Given the description of an element on the screen output the (x, y) to click on. 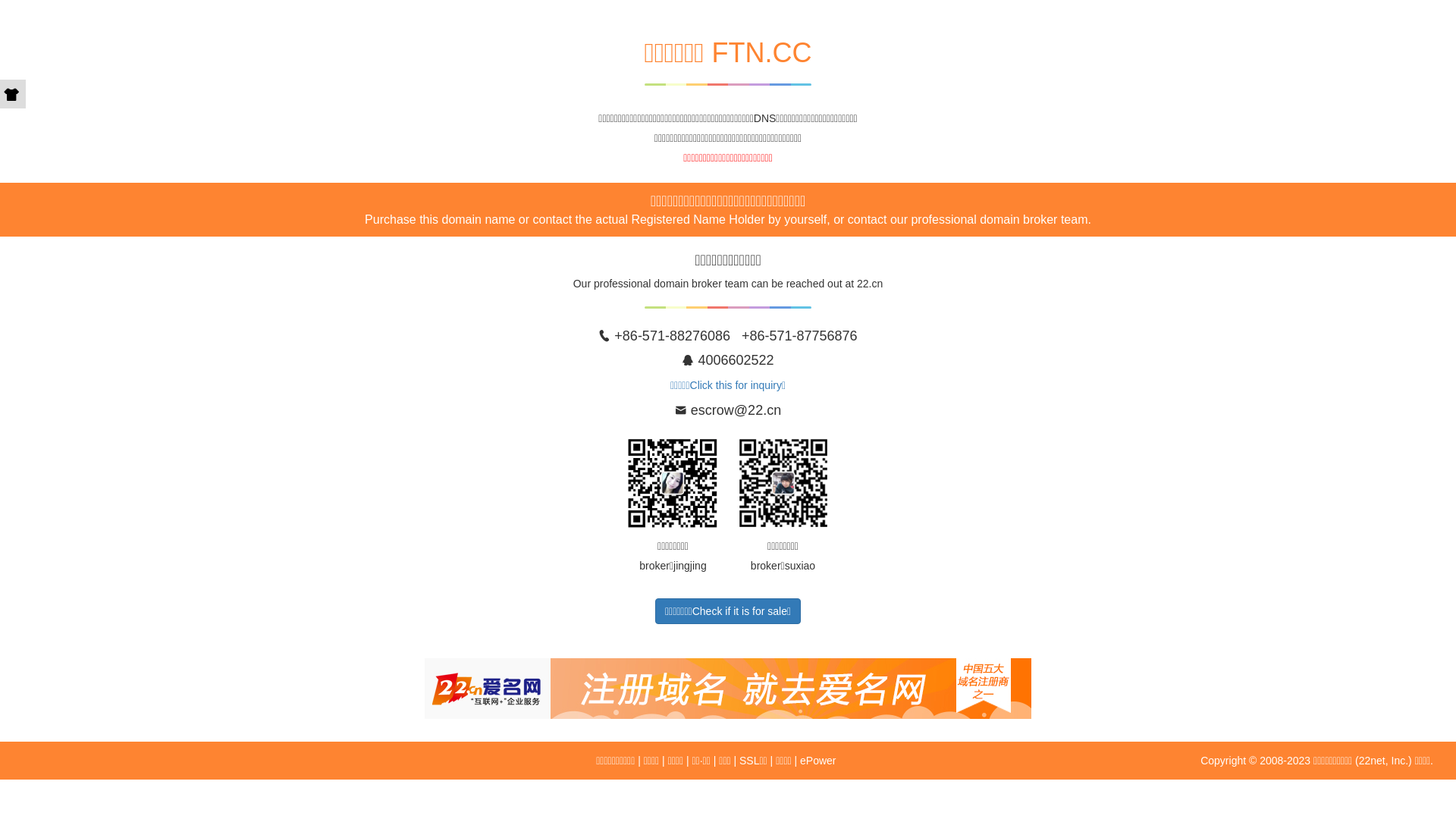
ePower Element type: text (817, 760)
